Given the description of an element on the screen output the (x, y) to click on. 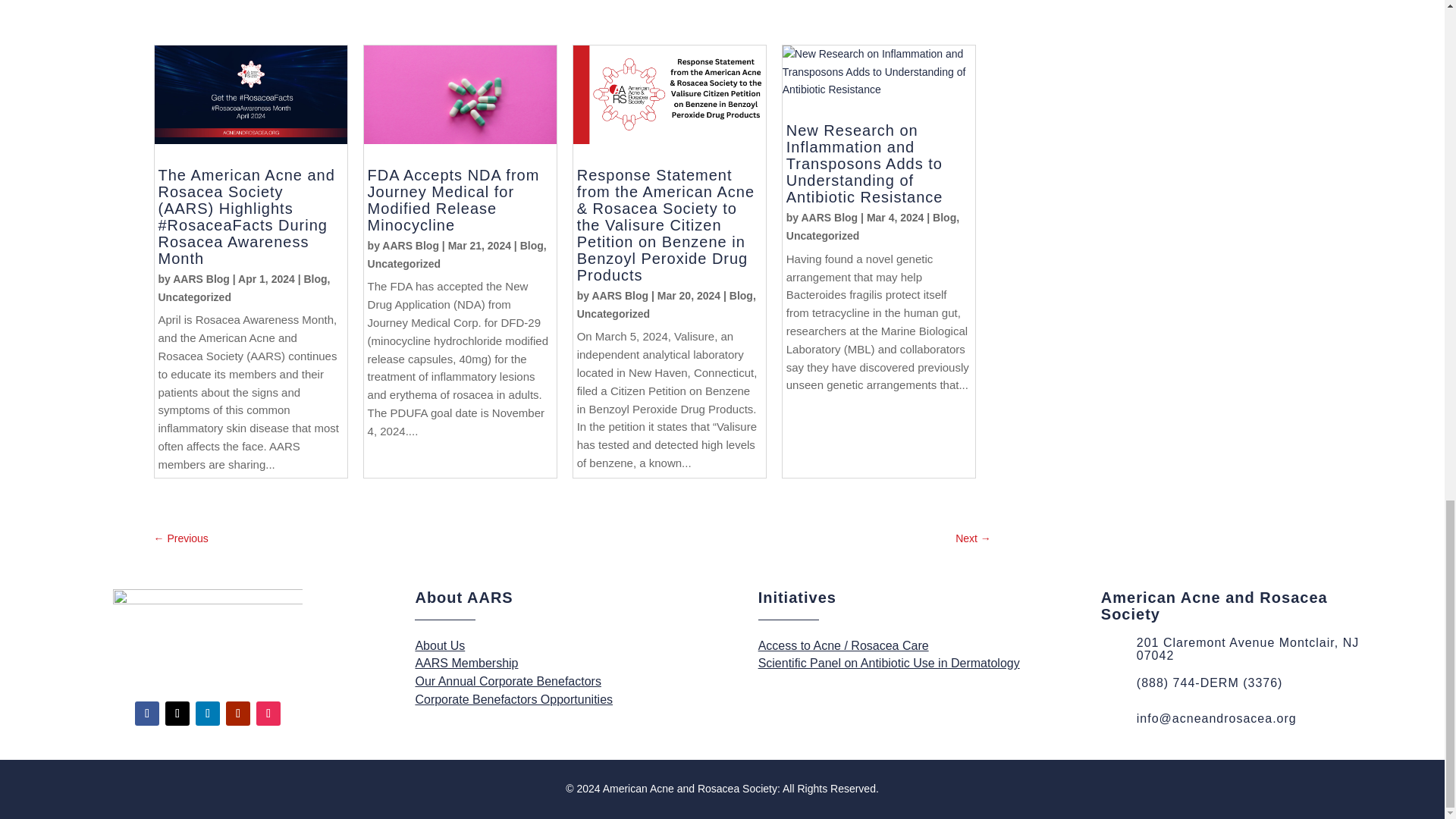
Posts by AARS Blog (410, 245)
Follow on Youtube (237, 713)
Follow on Instagram (268, 713)
Follow on Facebook (146, 713)
logo-400 (207, 639)
Follow on LinkedIn (207, 713)
Posts by AARS Blog (619, 295)
Posts by AARS Blog (201, 278)
Posts by AARS Blog (828, 217)
Follow on X (177, 713)
